Given the description of an element on the screen output the (x, y) to click on. 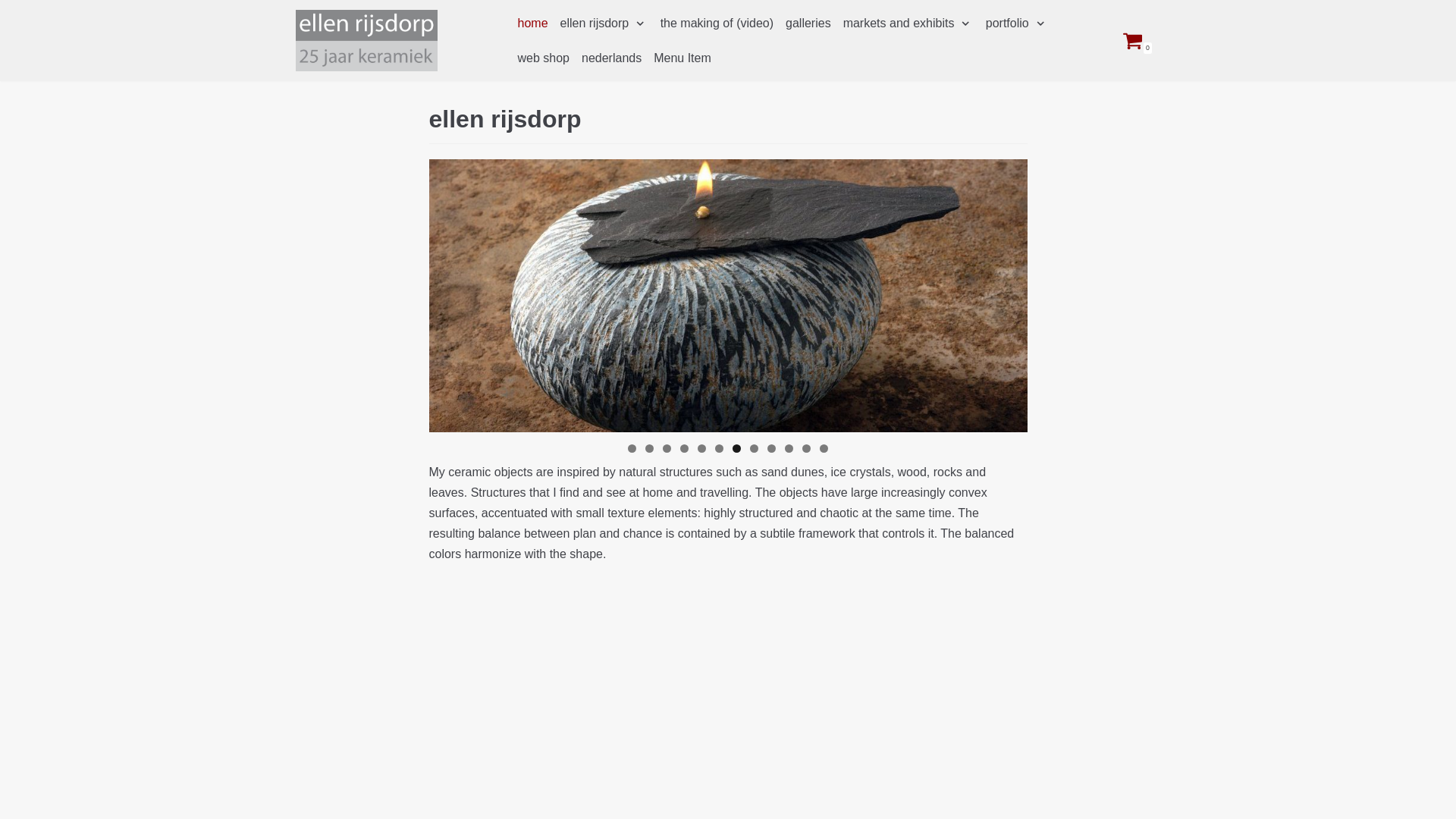
markets and exhibits (908, 23)
galleries (808, 23)
home (531, 23)
web shop (542, 57)
Menu Item (682, 57)
ellen rijsdorp (366, 39)
ellen rijsdorp (603, 23)
qqwer (682, 57)
Skip to content (15, 7)
0 (1137, 40)
nederlands (611, 57)
portfolio (1016, 23)
